Given the description of an element on the screen output the (x, y) to click on. 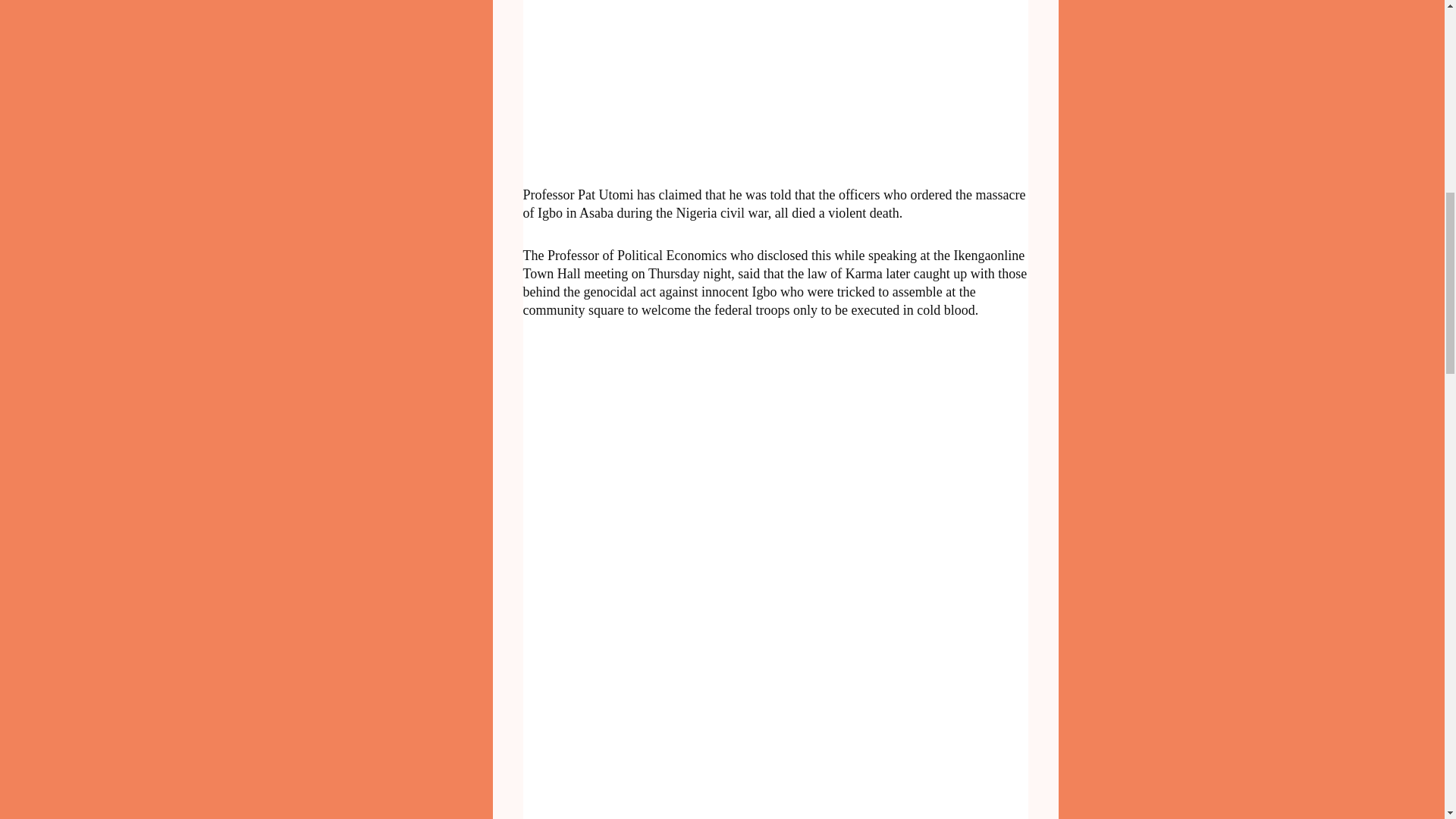
3rd party ad content (666, 78)
3rd party ad content (666, 689)
3rd party ad content (666, 456)
